Given the description of an element on the screen output the (x, y) to click on. 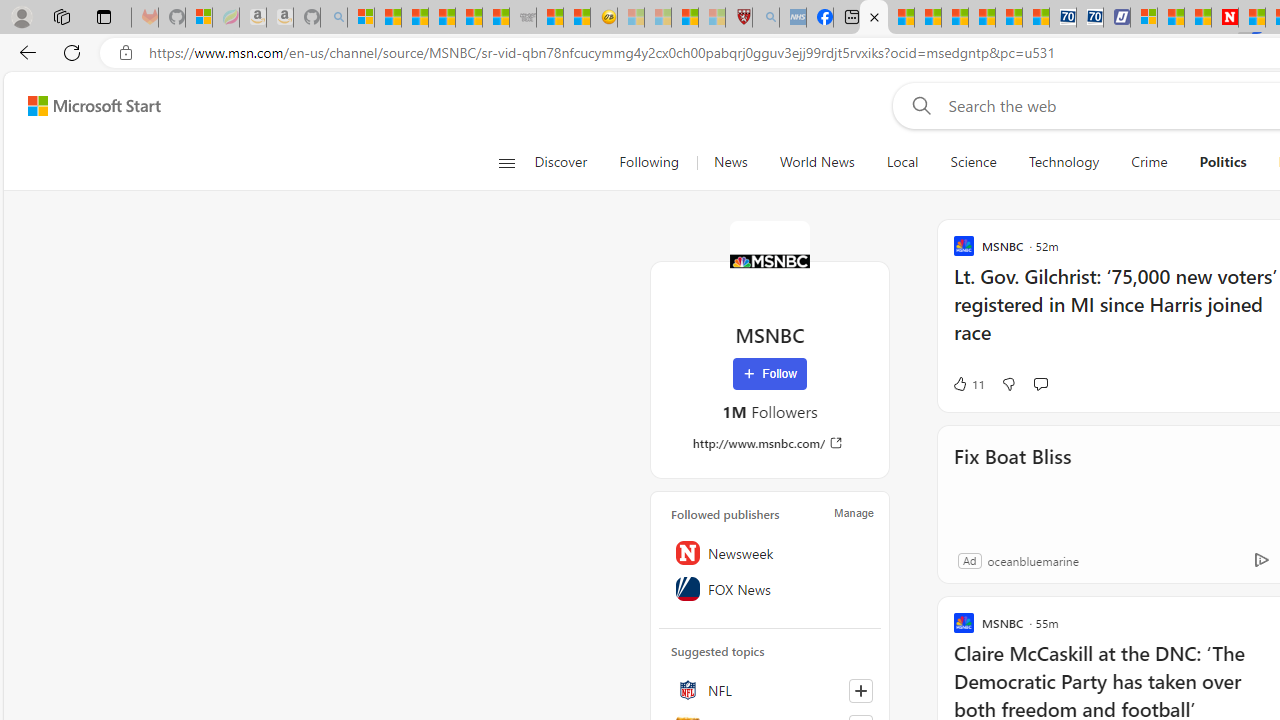
http://www.msnbc.com/ (769, 443)
